Given the description of an element on the screen output the (x, y) to click on. 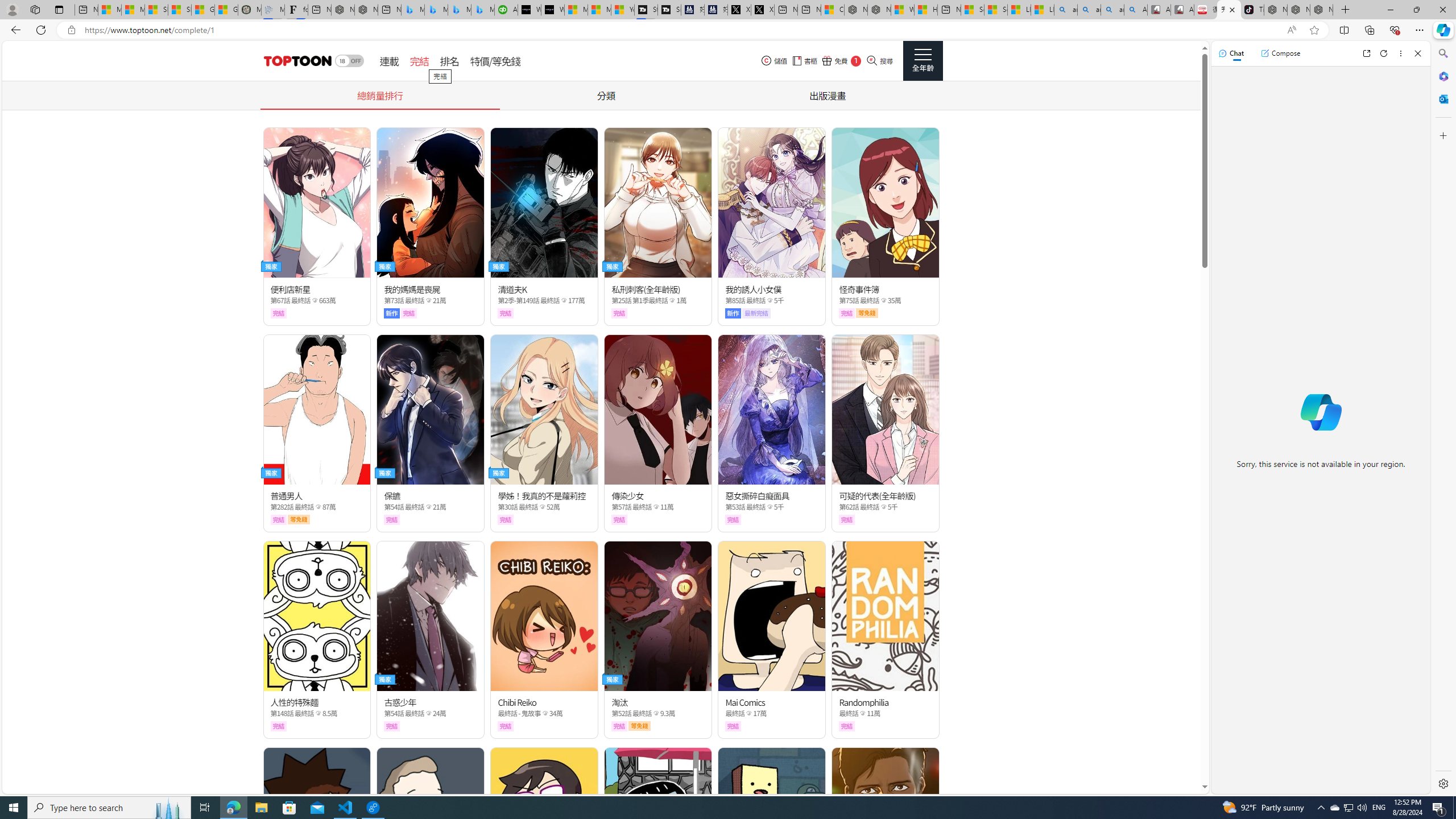
Huge shark washes ashore at New York City beach | Watch (926, 9)
Nordace - Siena Pro 15 Essential Set (1321, 9)
